Given the description of an element on the screen output the (x, y) to click on. 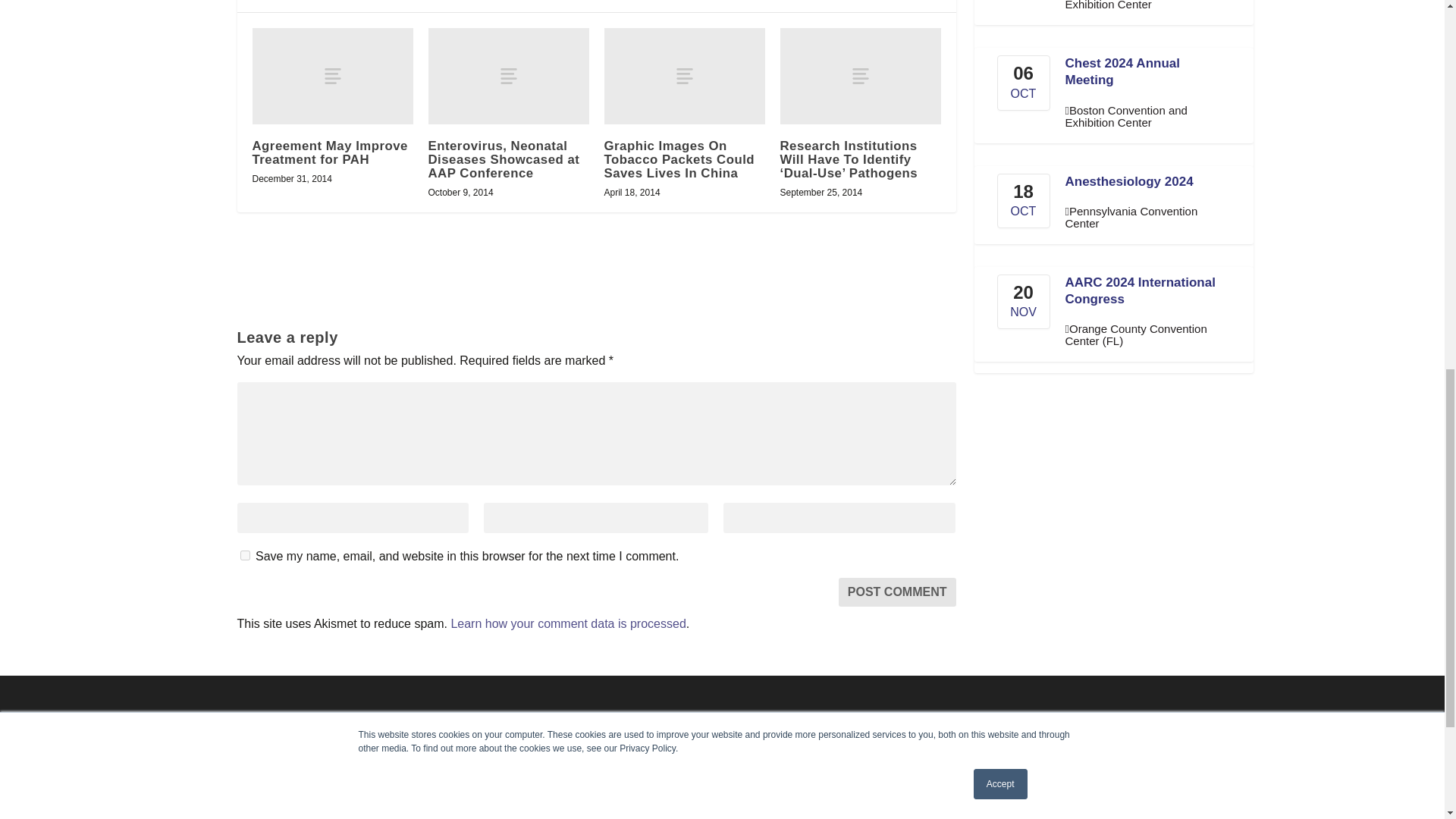
Post Comment (897, 592)
yes (244, 555)
Agreement May Improve Treatment for PAH (331, 75)
Enterovirus, Neonatal Diseases Showcased at AAP Conference (508, 75)
